Given the description of an element on the screen output the (x, y) to click on. 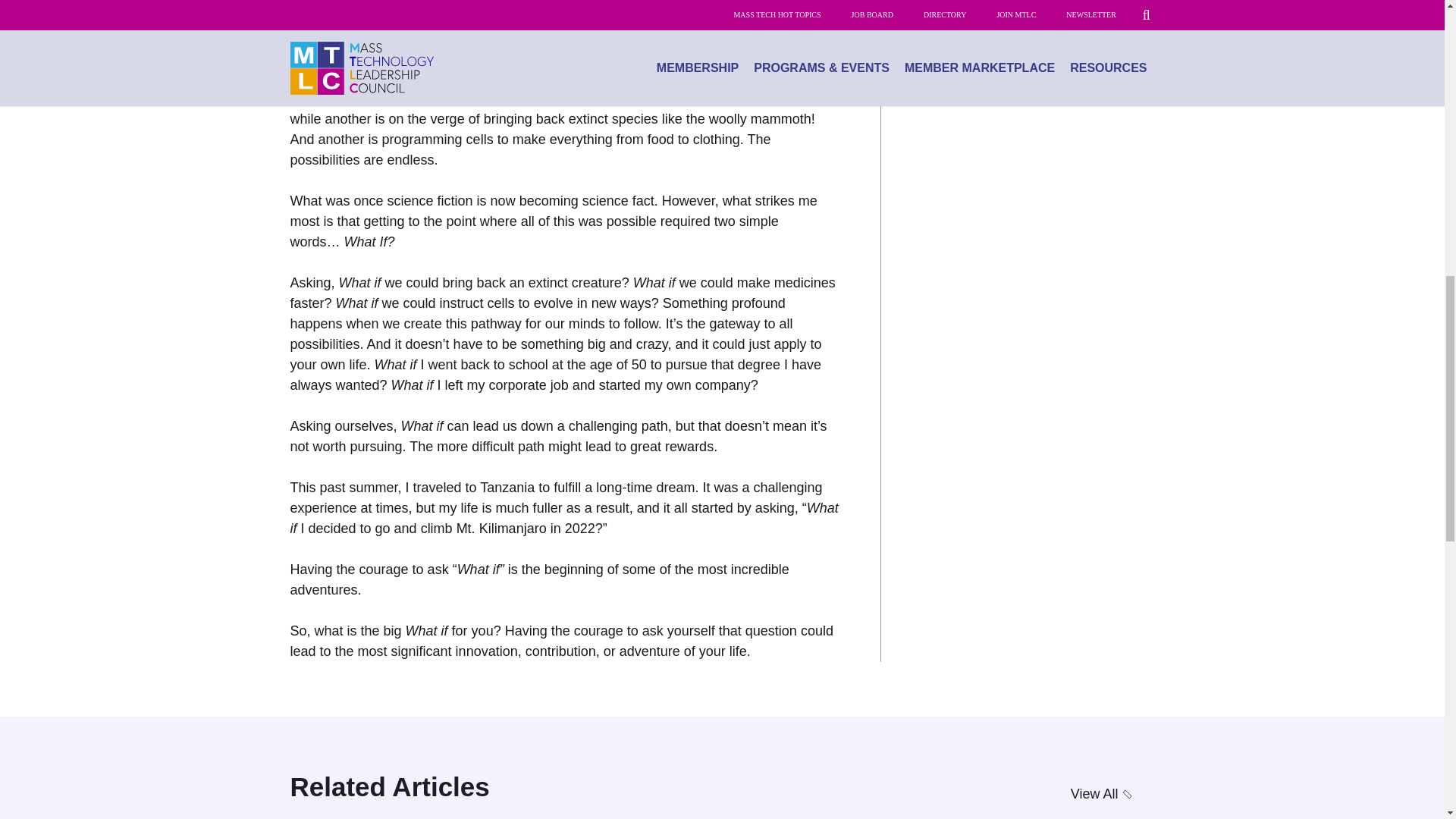
Back to top (1413, 26)
Share this (1029, 6)
Share this (1072, 6)
Share this (941, 6)
Tweet this (985, 6)
Share this (1116, 6)
